Given the description of an element on the screen output the (x, y) to click on. 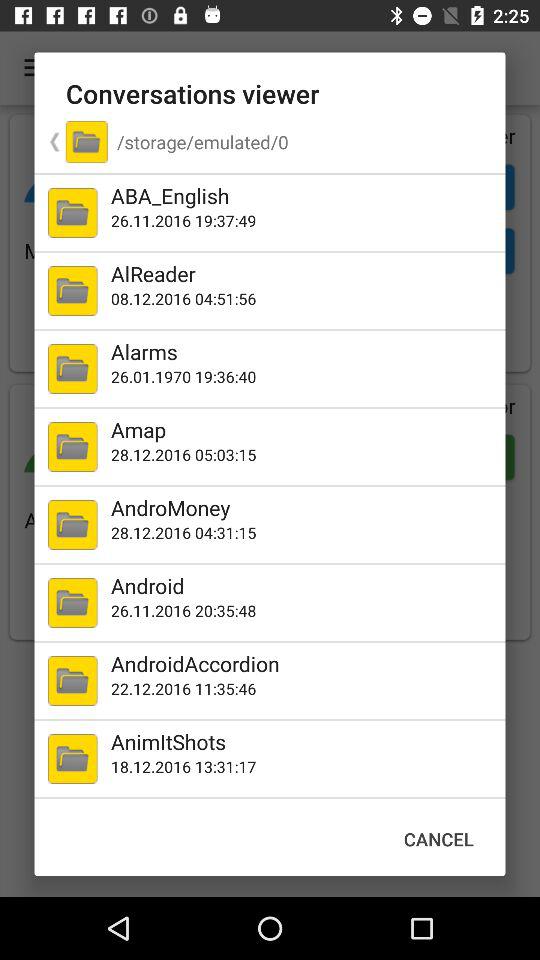
click icon above 28 12 2016 (304, 507)
